Given the description of an element on the screen output the (x, y) to click on. 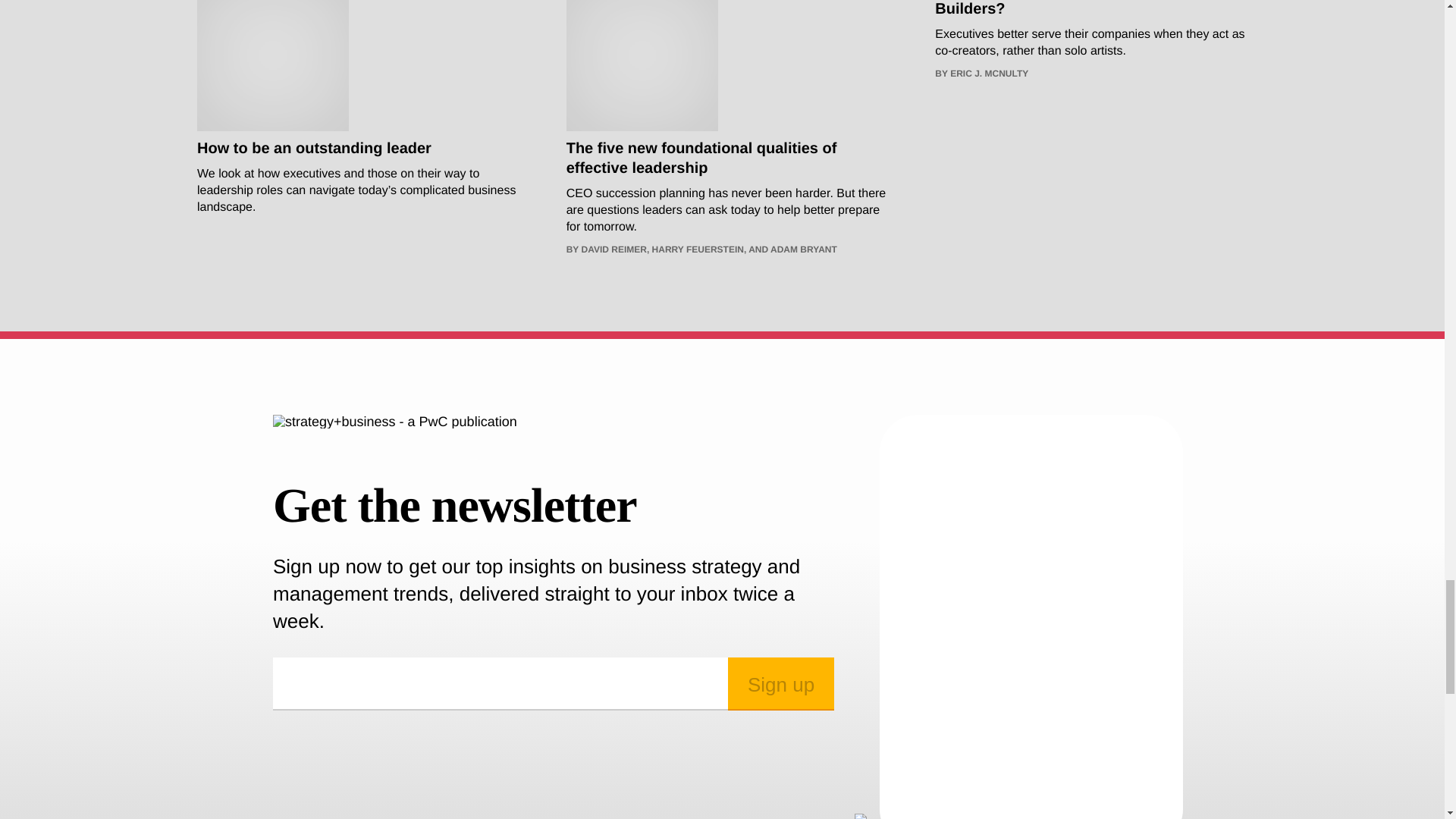
Five question marks on blackboard (641, 65)
Newsletters (1031, 622)
Sign up (781, 683)
